Given the description of an element on the screen output the (x, y) to click on. 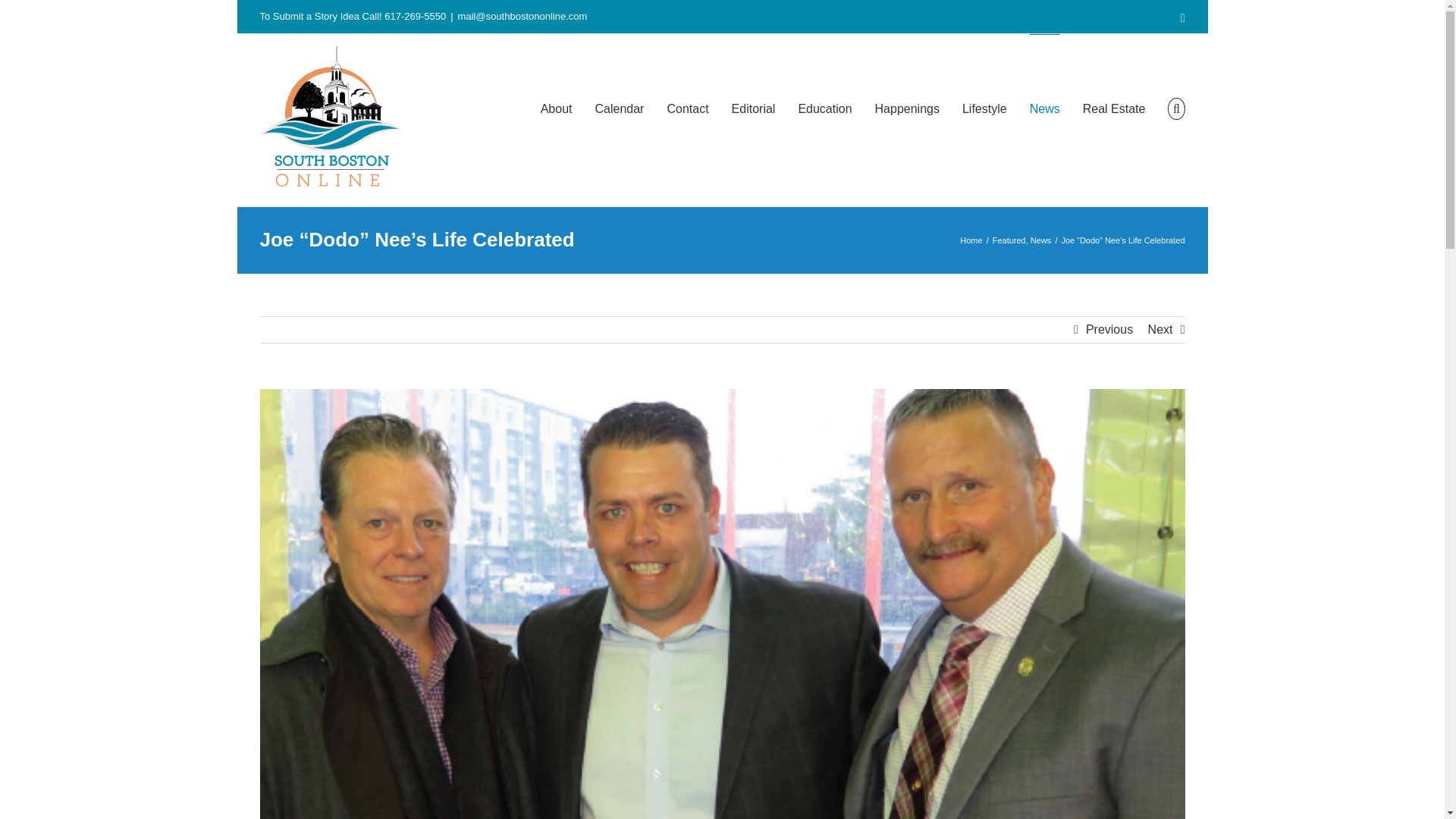
Next (1160, 329)
Featured (1009, 239)
Previous (1109, 329)
News (1040, 239)
Home (970, 239)
